Given the description of an element on the screen output the (x, y) to click on. 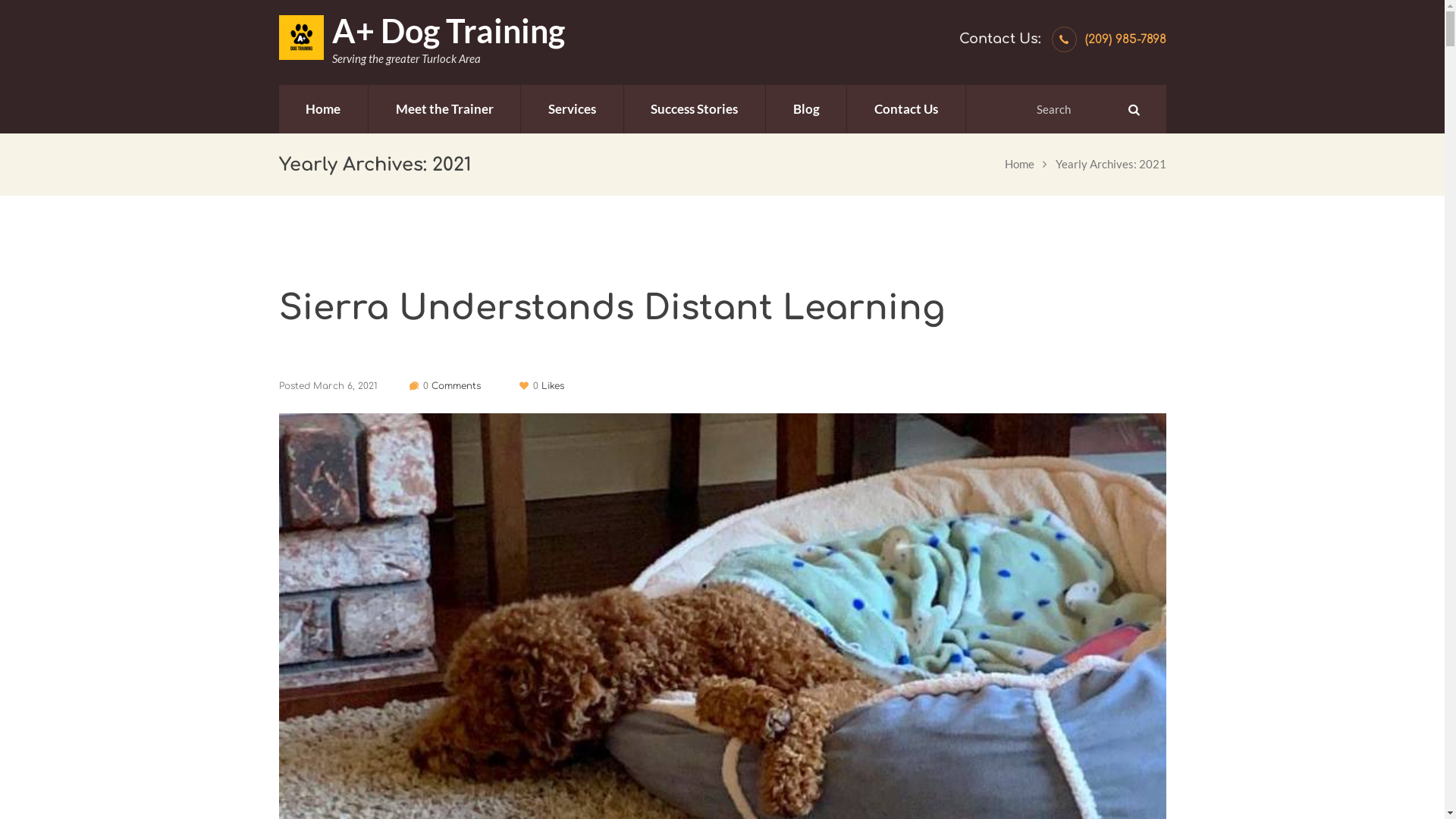
0 Comments Element type: text (444, 385)
Blog Element type: text (806, 109)
Meet the Trainer Element type: text (444, 109)
Services Element type: text (571, 109)
A+ Dog Training

Serving the greater Turlock Area Element type: text (422, 41)
March 6, 2021 Element type: text (344, 385)
Home Element type: text (323, 109)
Contact Us Element type: text (906, 109)
(209) 985-7898 Element type: text (1124, 39)
Start search Element type: hover (1132, 109)
Sierra Understands Distant Learning Element type: text (722, 308)
0 Likes Element type: text (541, 385)
Home Element type: text (1019, 163)
Success Stories Element type: text (694, 109)
